Given the description of an element on the screen output the (x, y) to click on. 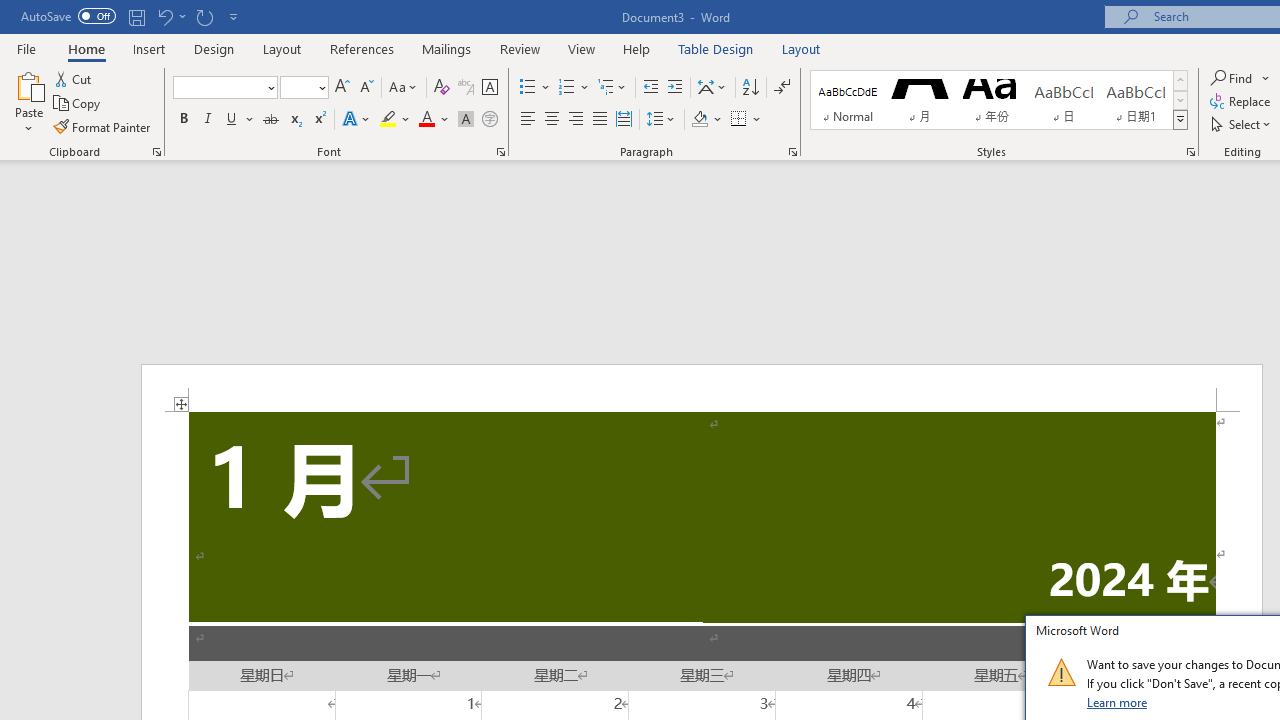
Text Highlight Color (395, 119)
Shading (706, 119)
Show/Hide Editing Marks (781, 87)
Clear Formatting (442, 87)
Font (218, 87)
Underline (239, 119)
Repeat Doc Close (204, 15)
Table Design (715, 48)
Paste (28, 84)
Copy (78, 103)
Phonetic Guide... (465, 87)
Font Size (297, 87)
Text Effects and Typography (357, 119)
Justify (599, 119)
Enclose Characters... (489, 119)
